Given the description of an element on the screen output the (x, y) to click on. 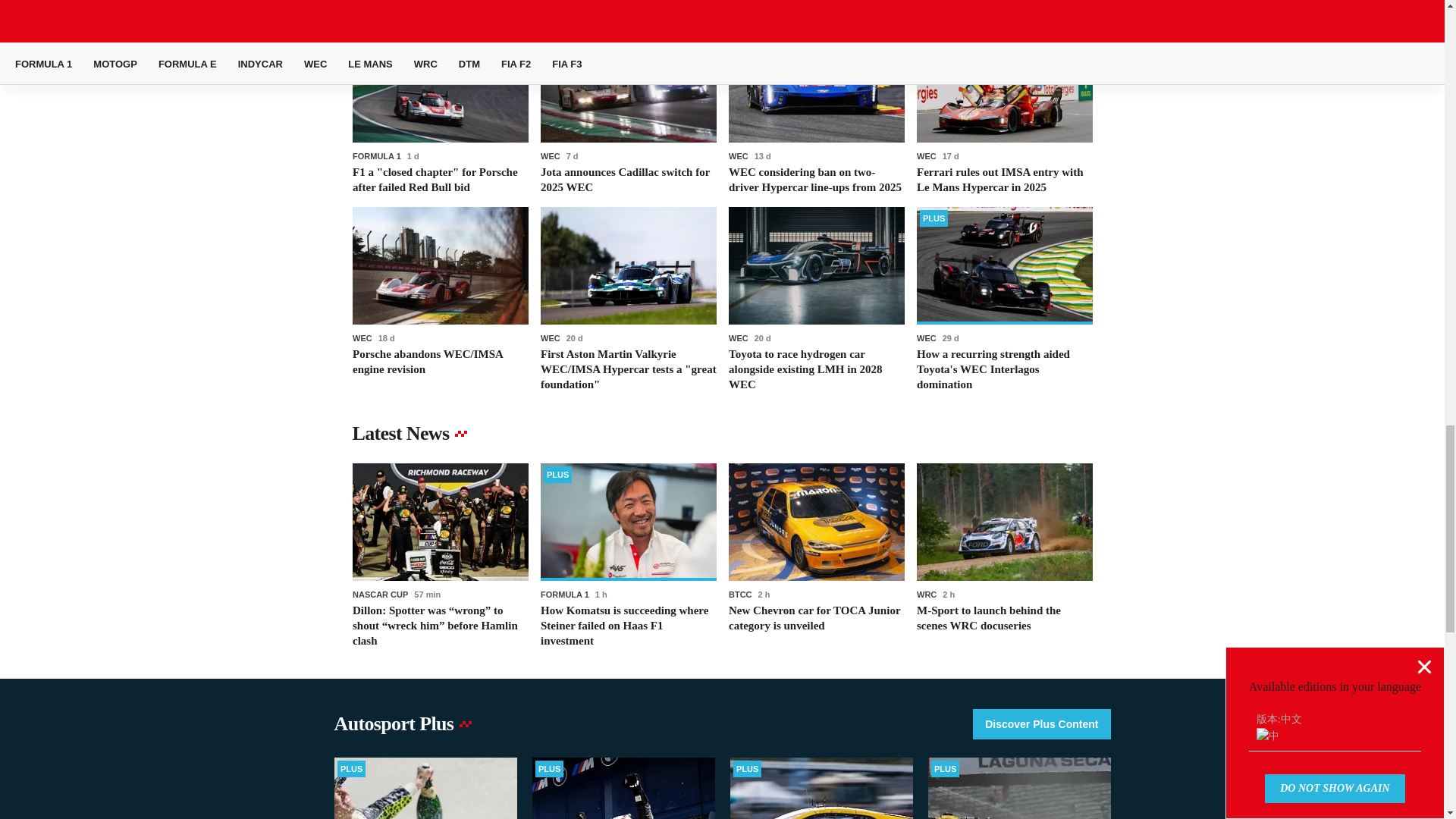
The former rival to F1 greats eyeing a future in hypercars (424, 788)
M-Sport to launch behind the scenes WRC docuseries (1003, 555)
New Chevron car for TOCA Junior category is unveiled (816, 555)
How a battle of two US titans will grip IMSA in 2024 (820, 788)
How IMSA's GTP revival proved worthy of its name (1019, 788)
F1 a "closed chapter" for Porsche after failed Red Bull bid (439, 109)
